Given the description of an element on the screen output the (x, y) to click on. 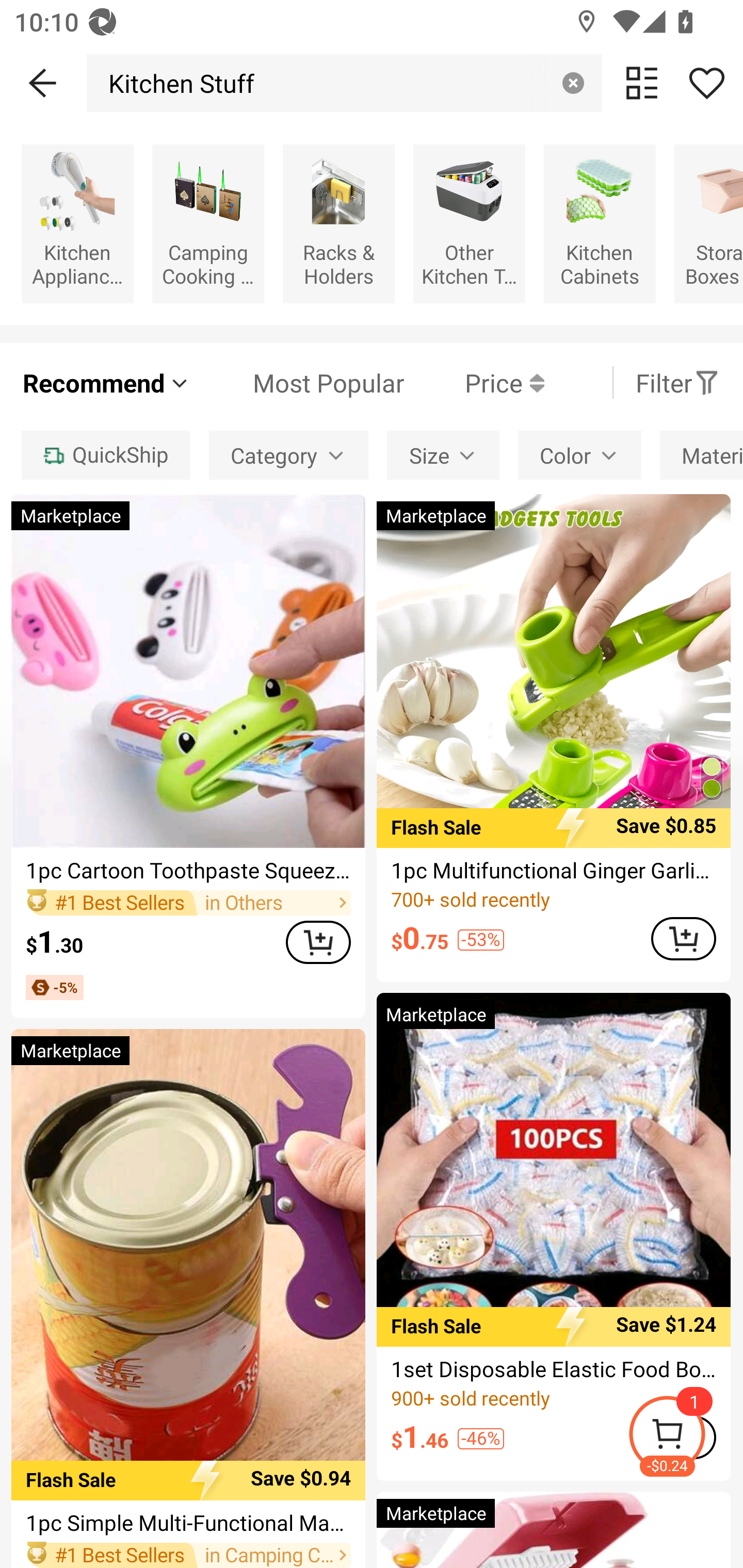
Kitchen Stuff (175, 82)
Clear (572, 82)
change view (641, 82)
Share (706, 82)
Kitchen Appliance Parts (77, 223)
Camping Cooking Utensils (208, 223)
Racks & Holders (338, 223)
Other Kitchen Tools (469, 223)
Kitchen Cabinets (599, 223)
Recommend (106, 382)
Most Popular (297, 382)
Price (474, 382)
Filter (677, 382)
QuickShip (105, 455)
Category (288, 455)
Size (443, 455)
Color (579, 455)
Material (701, 455)
#1 Best Sellers in Others (188, 902)
ADD TO CART (683, 938)
ADD TO CART (318, 942)
-$0.24 (685, 1436)
#1 Best Sellers in Camping Cooking Utensils (188, 1554)
